Given the description of an element on the screen output the (x, y) to click on. 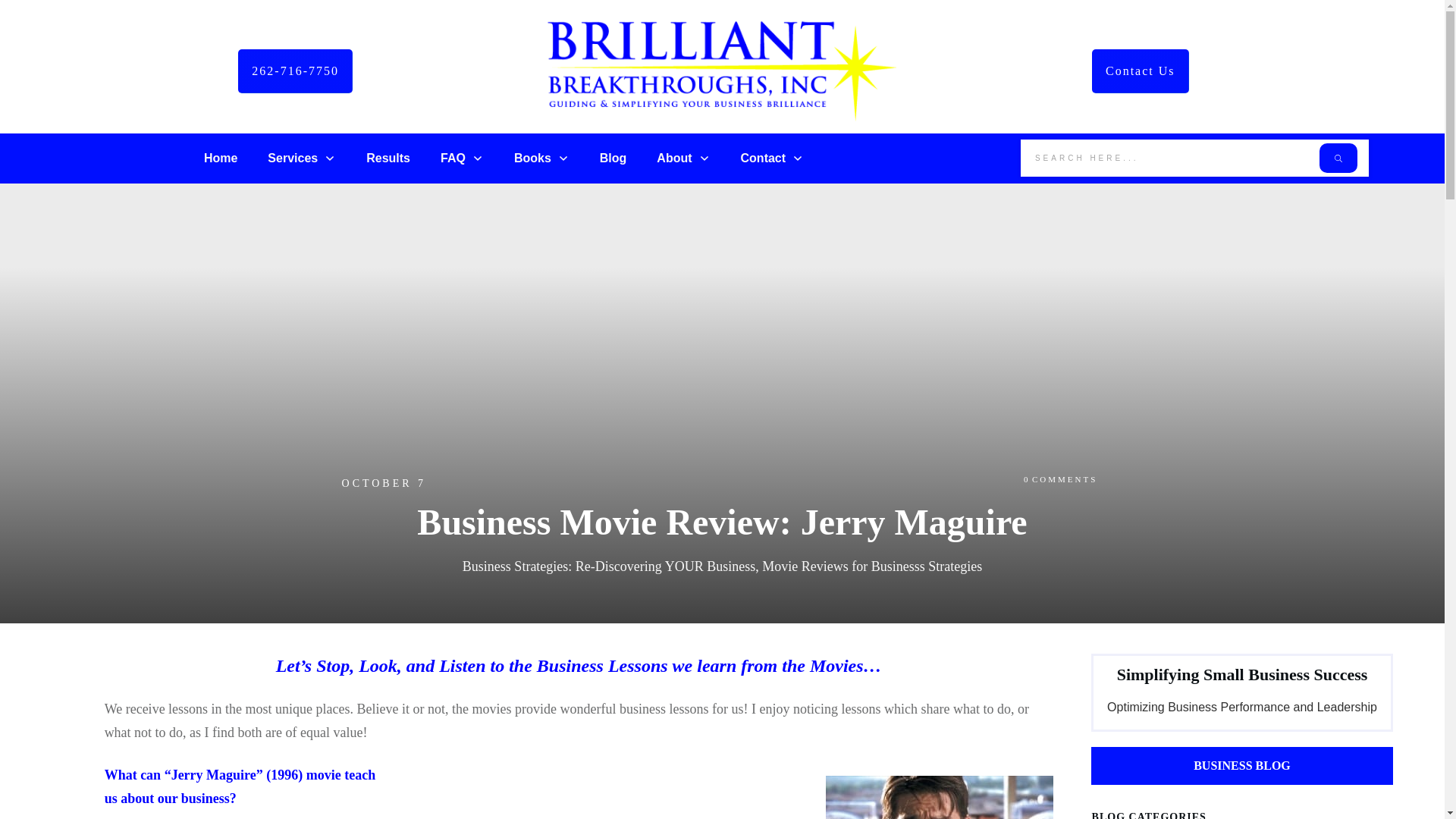
Contact (773, 158)
Blog (613, 158)
Jerry Maguire, "Show me the money!" Image by hark.com (938, 797)
Contact Us (1140, 71)
262-716-7750 (295, 71)
Services (301, 158)
Movie Reviews for Businesss Strategies (871, 566)
Home (220, 158)
Books (541, 158)
Movie Reviews for Businesss Strategies (871, 566)
About (683, 158)
Business Strategies: Re-Discovering YOUR Business (609, 566)
Business Strategies: Re-Discovering YOUR Business (609, 566)
Results (388, 158)
FAQ (462, 158)
